Given the description of an element on the screen output the (x, y) to click on. 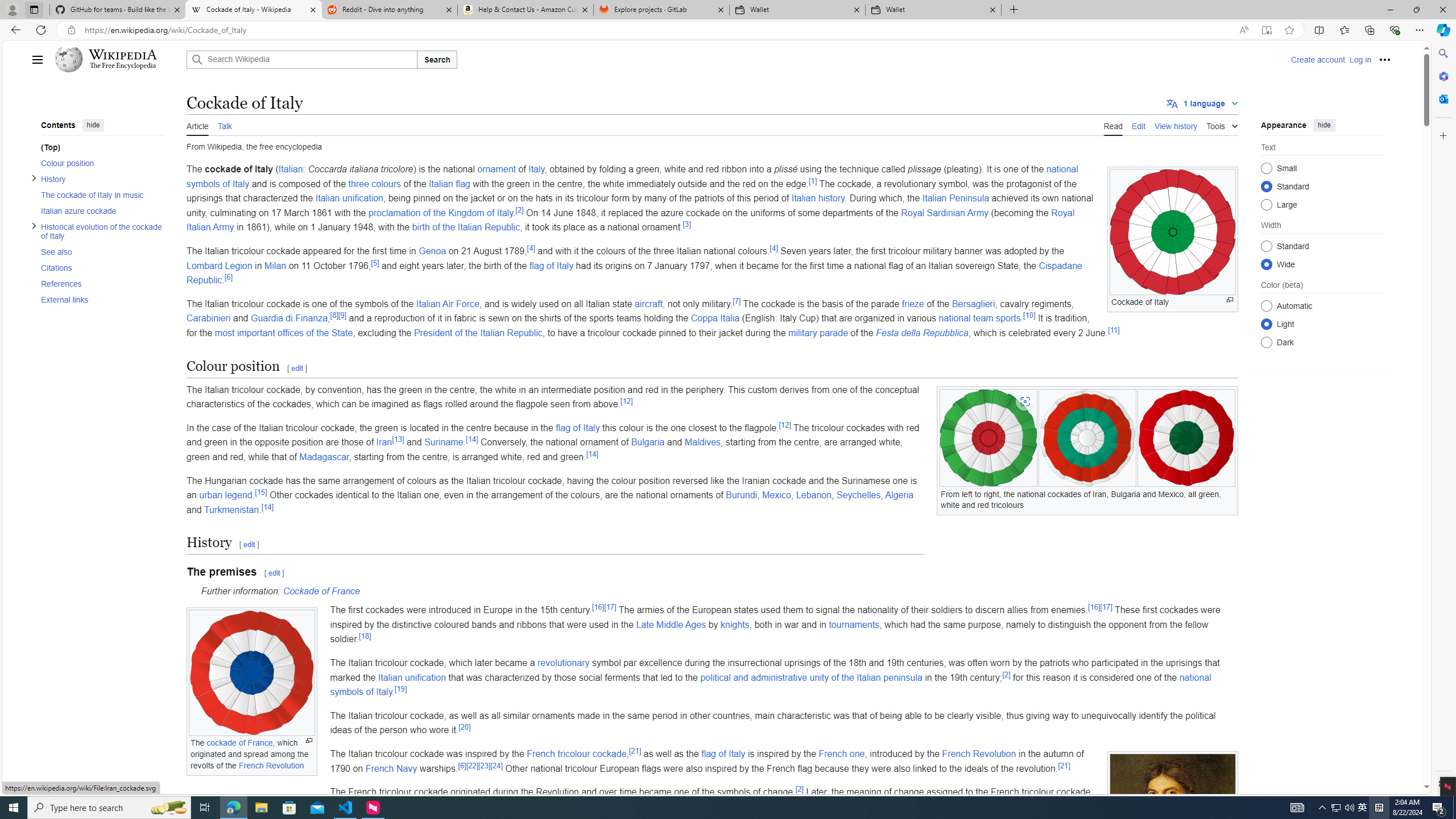
Read (1112, 124)
political and administrative unity of the Italian peninsula (811, 677)
[24] (496, 764)
Iran (384, 442)
Bersaglieri (973, 303)
[20] (464, 727)
Class: mw-list-item mw-list-item-js (1321, 323)
View history (1176, 124)
[22] (472, 764)
Personal tools (1384, 59)
Log in (1360, 58)
[8] (333, 315)
